Given the description of an element on the screen output the (x, y) to click on. 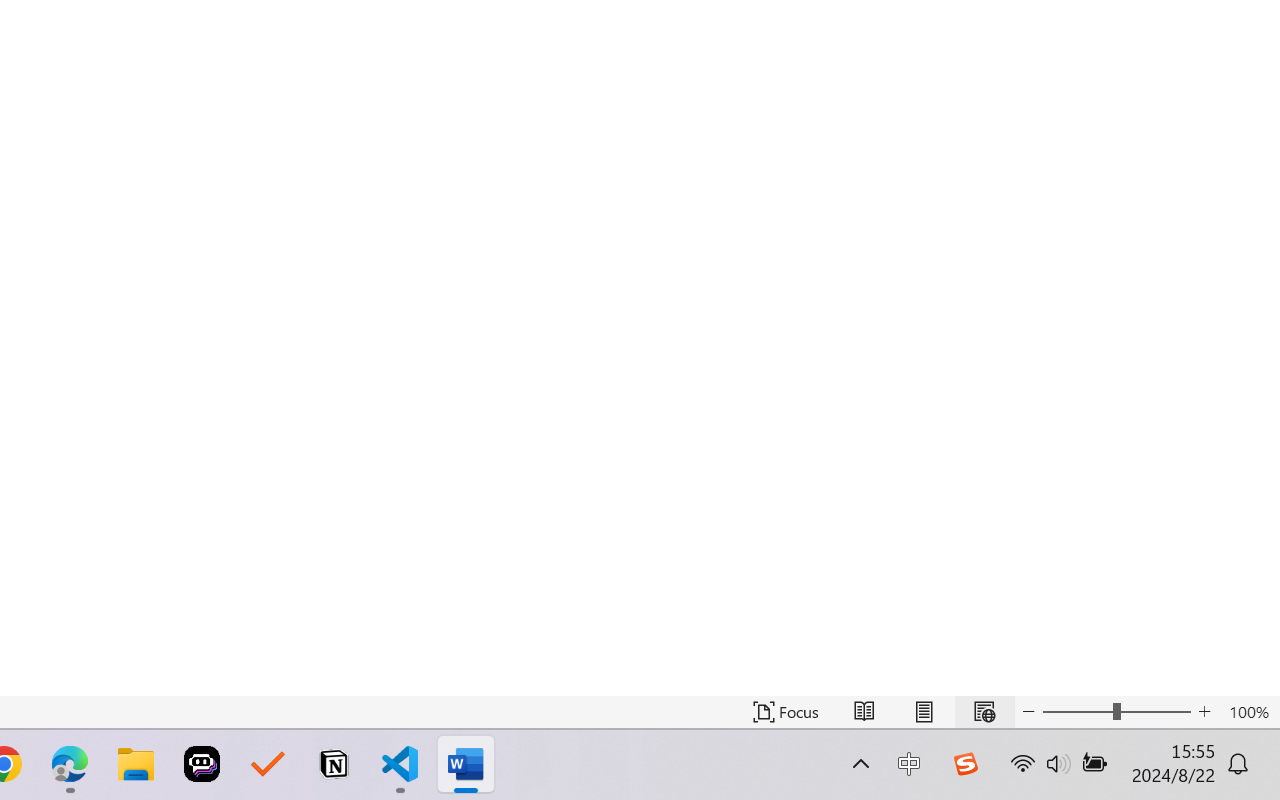
Class: Image (965, 764)
Zoom Out (1077, 712)
Read Mode (864, 712)
Zoom In (1204, 712)
Web Layout (984, 712)
Focus  (786, 712)
Print Layout (924, 712)
Zoom (1116, 712)
Zoom 100% (1249, 712)
